Given the description of an element on the screen output the (x, y) to click on. 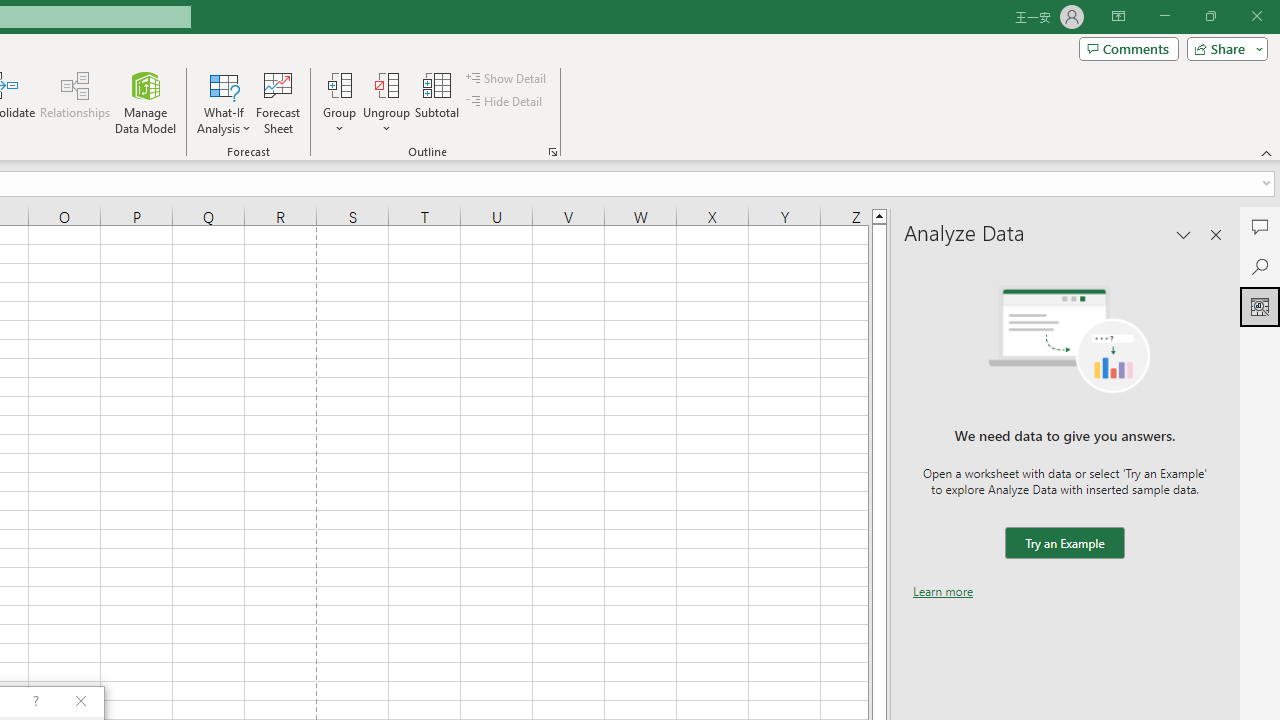
Manage Data Model (145, 102)
What-If Analysis (223, 102)
Subtotal (437, 102)
Analyze Data (1260, 306)
Hide Detail (505, 101)
